Given the description of an element on the screen output the (x, y) to click on. 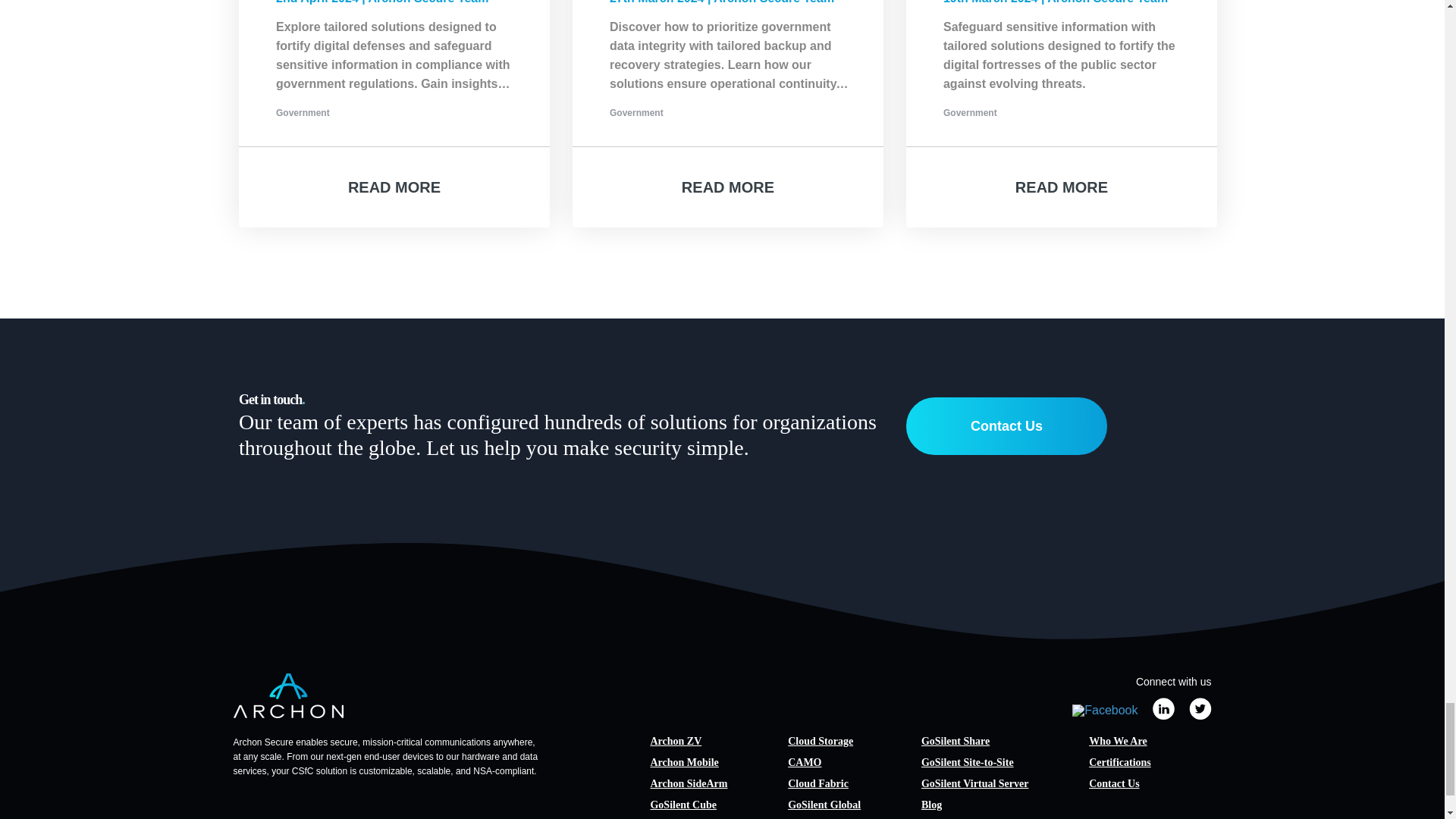
Archon Secure  (287, 695)
